Given the description of an element on the screen output the (x, y) to click on. 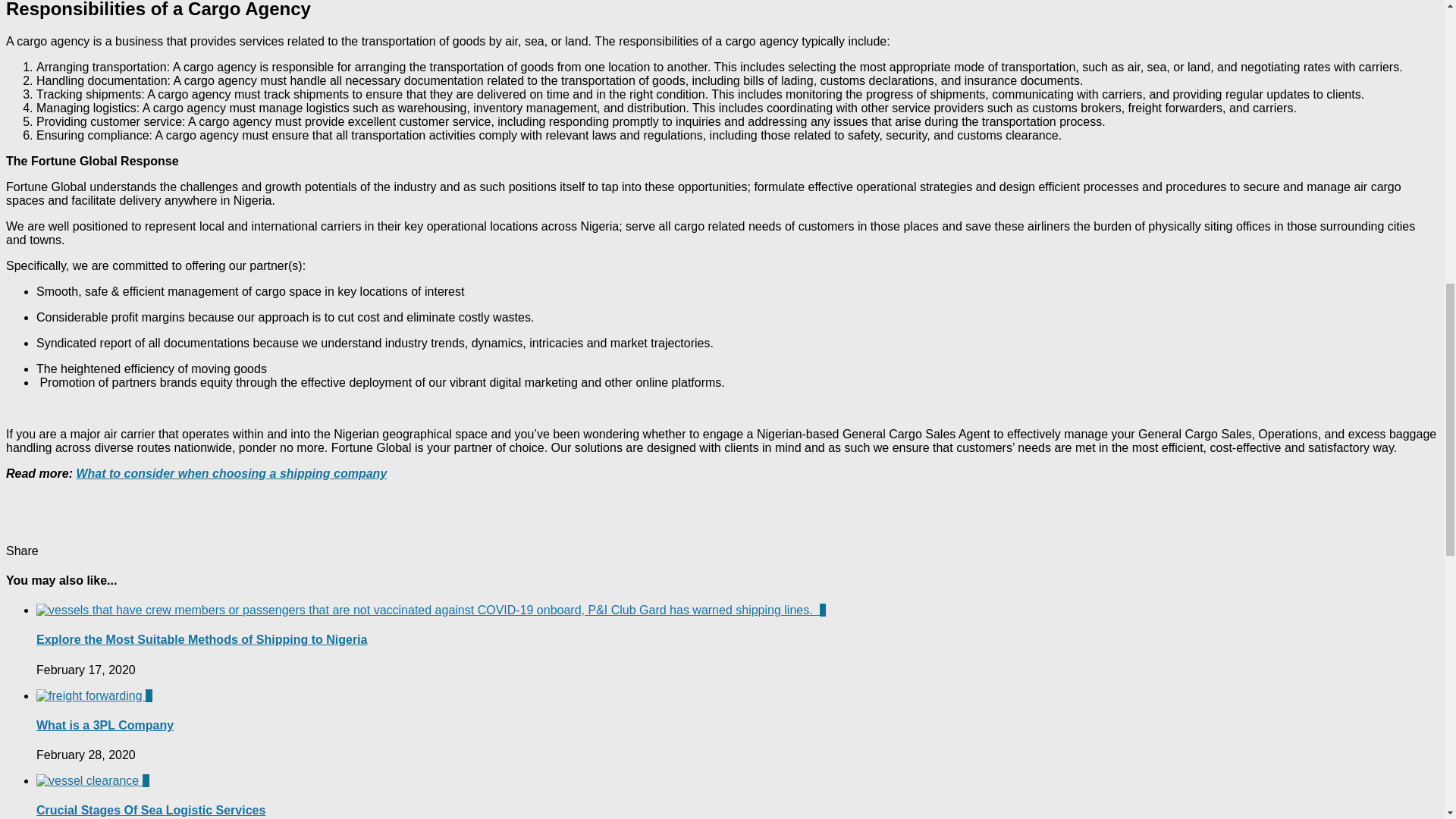
Explore the Most Suitable Methods of Shipping to Nigeria (201, 639)
What to consider when choosing a shipping company (231, 472)
